Given the description of an element on the screen output the (x, y) to click on. 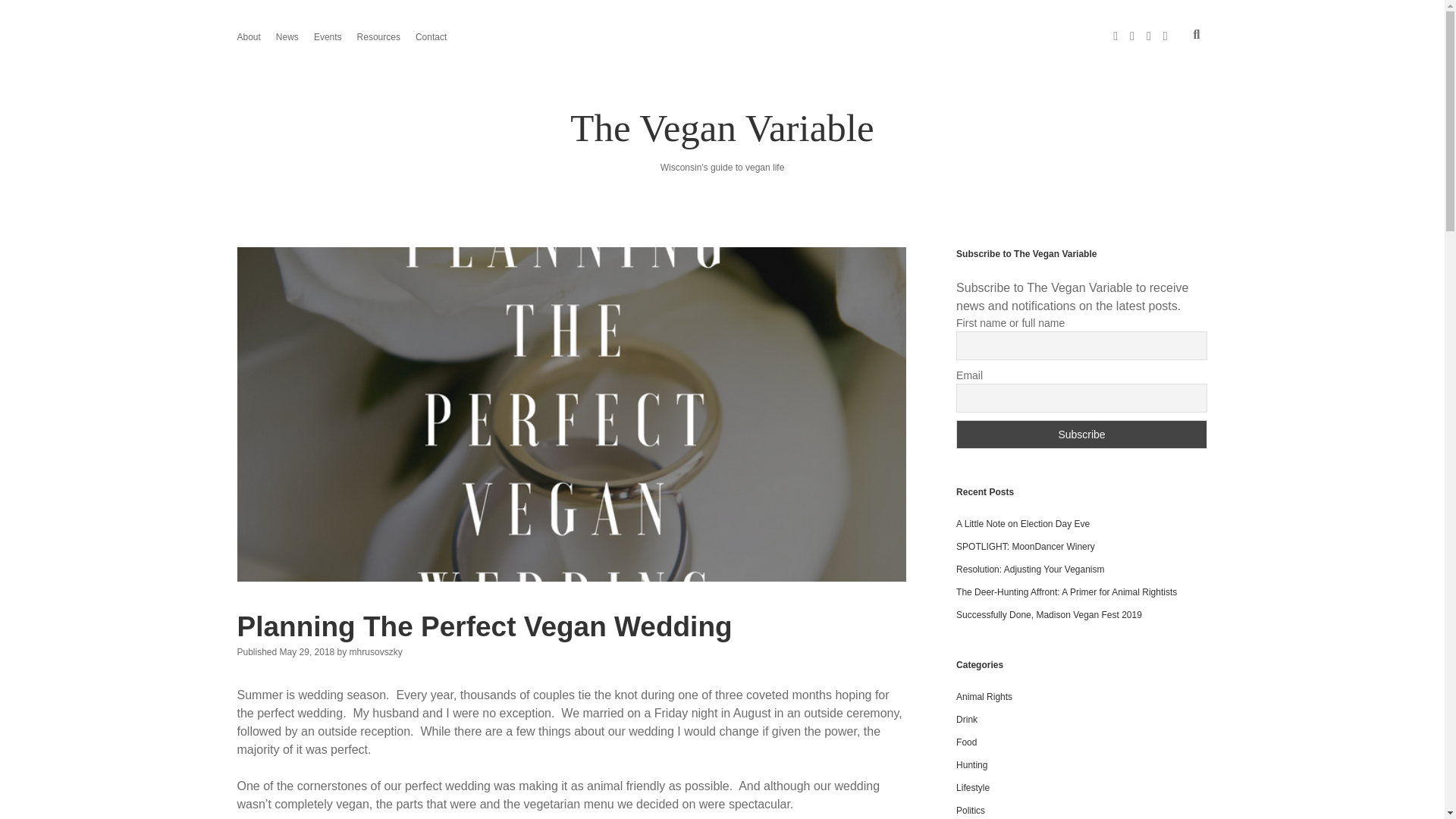
A Little Note on Election Day Eve (1022, 523)
About (247, 37)
Resources (378, 37)
Contact (430, 37)
News (287, 37)
Successfully Done, Madison Vegan Fest 2019 (1048, 614)
The Deer-Hunting Affront: A Primer for Animal Rightists (1066, 592)
Subscribe (1081, 434)
Subscribe (1081, 434)
SPOTLIGHT: MoonDancer Winery (1025, 546)
